Given the description of an element on the screen output the (x, y) to click on. 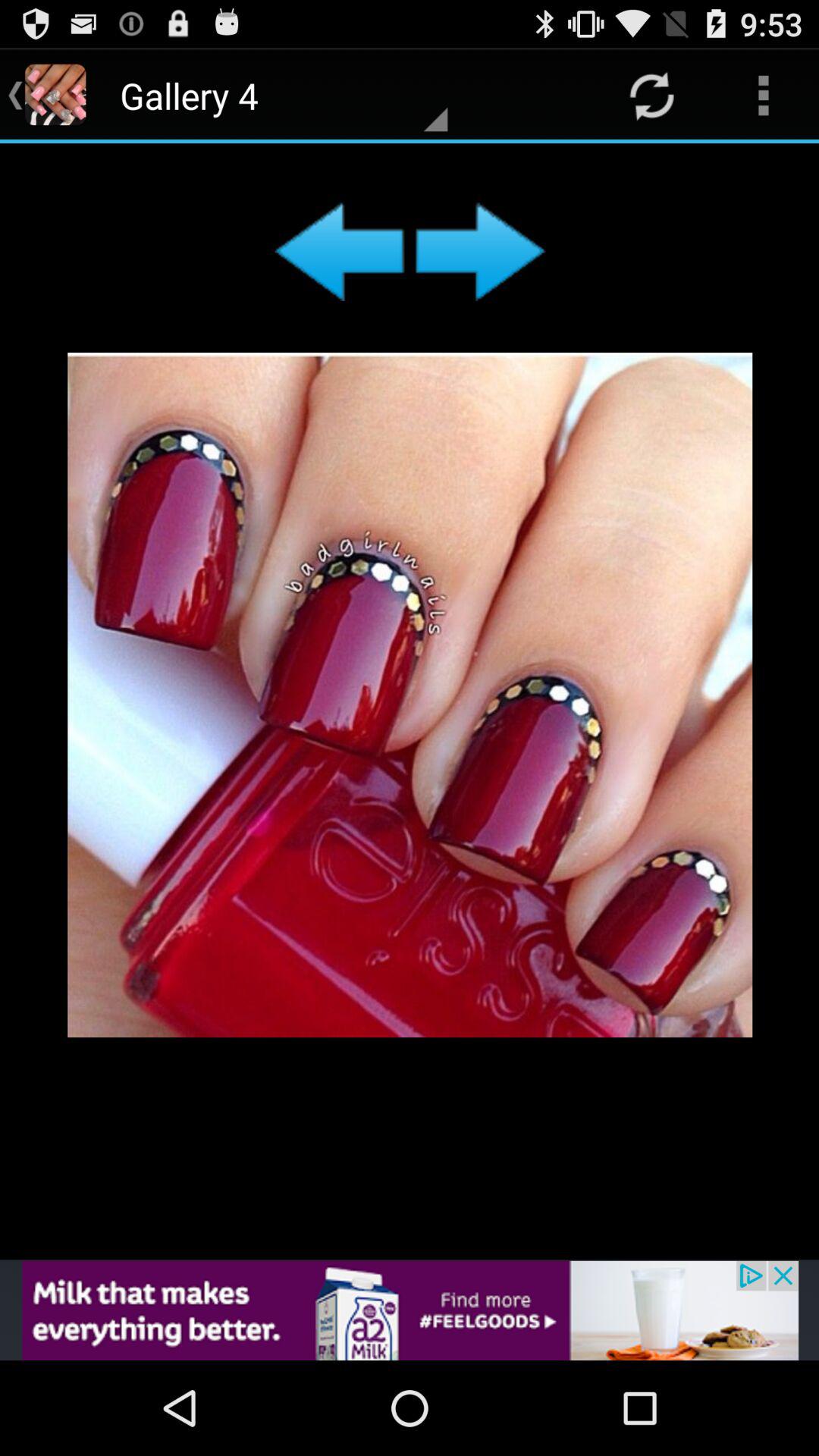
advertisement (409, 701)
